Given the description of an element on the screen output the (x, y) to click on. 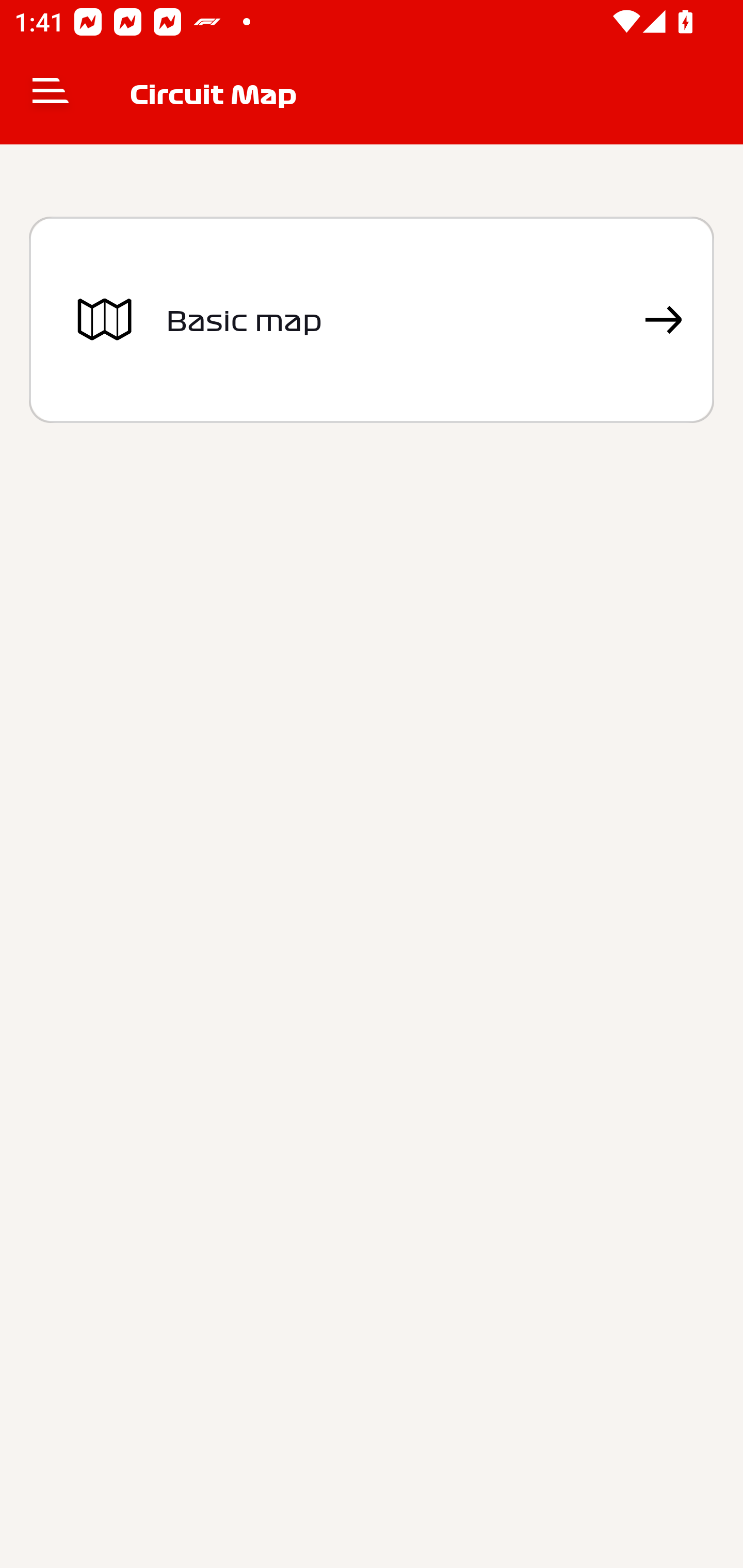
Navigate up (50, 93)
Basic map (371, 319)
